Given the description of an element on the screen output the (x, y) to click on. 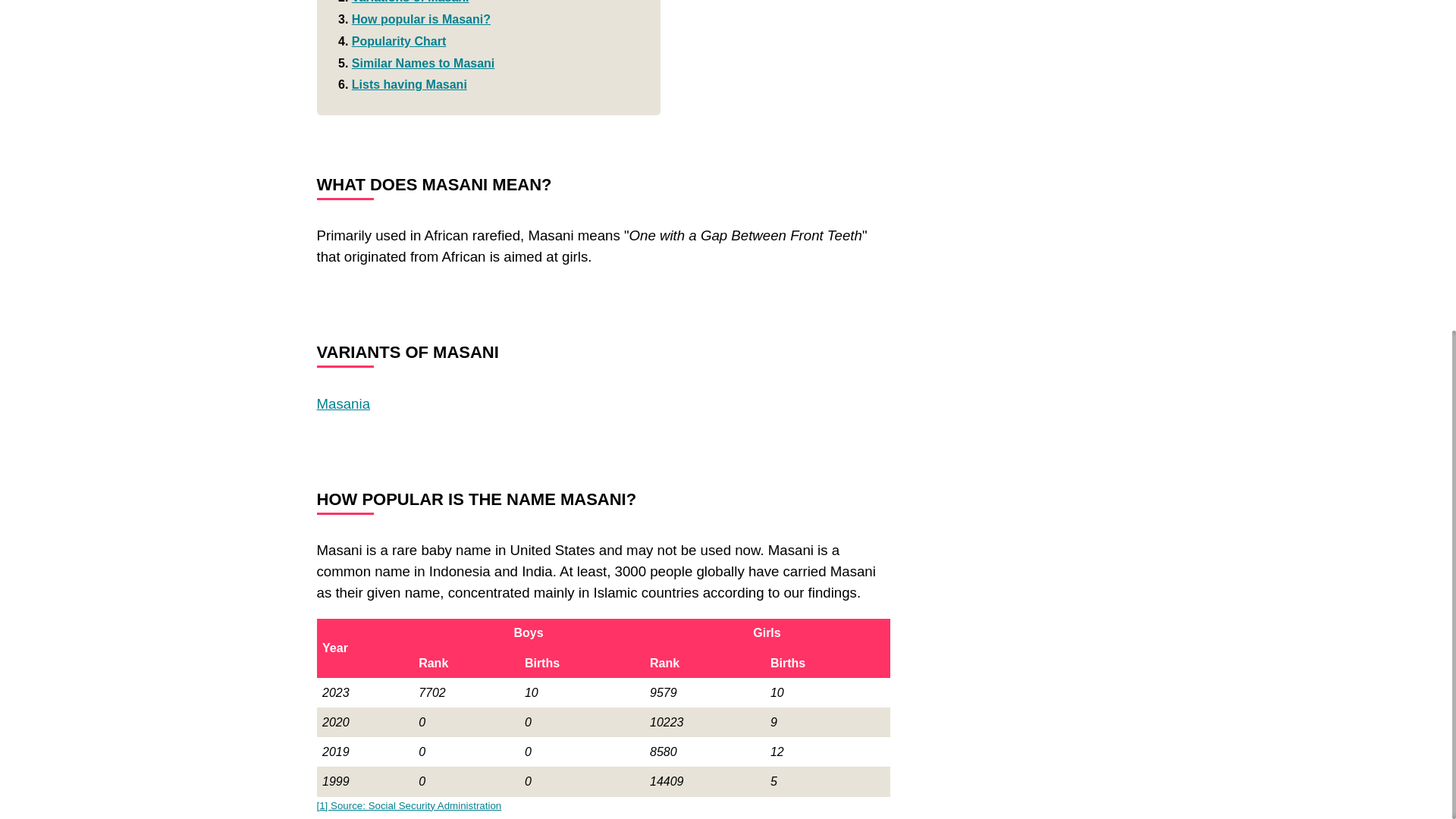
Popularity Chart (398, 41)
Variations of Masani (410, 2)
Similar Names to Masani (423, 62)
How popular is Masani? (421, 19)
Masania (344, 403)
Lists having Masani (409, 83)
